Given the description of an element on the screen output the (x, y) to click on. 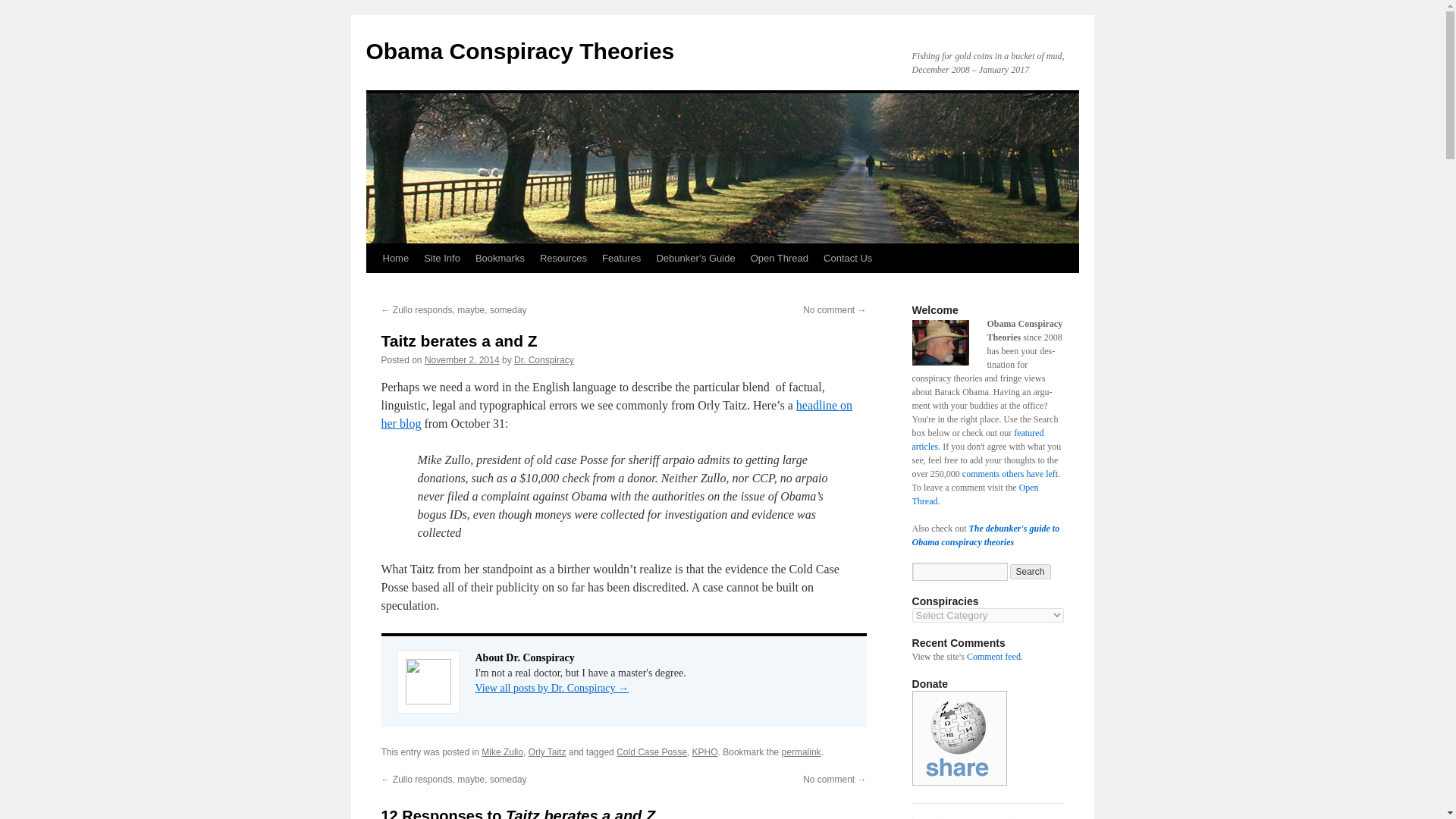
Home (395, 258)
Orly Taitz (547, 751)
Resources (563, 258)
Bookmarks (499, 258)
Permalink to Taitz berates a and Z (801, 751)
Open Thread (778, 258)
Contact Us (847, 258)
Site Info (441, 258)
headline on her blog (615, 413)
Search (1030, 571)
